Given the description of an element on the screen output the (x, y) to click on. 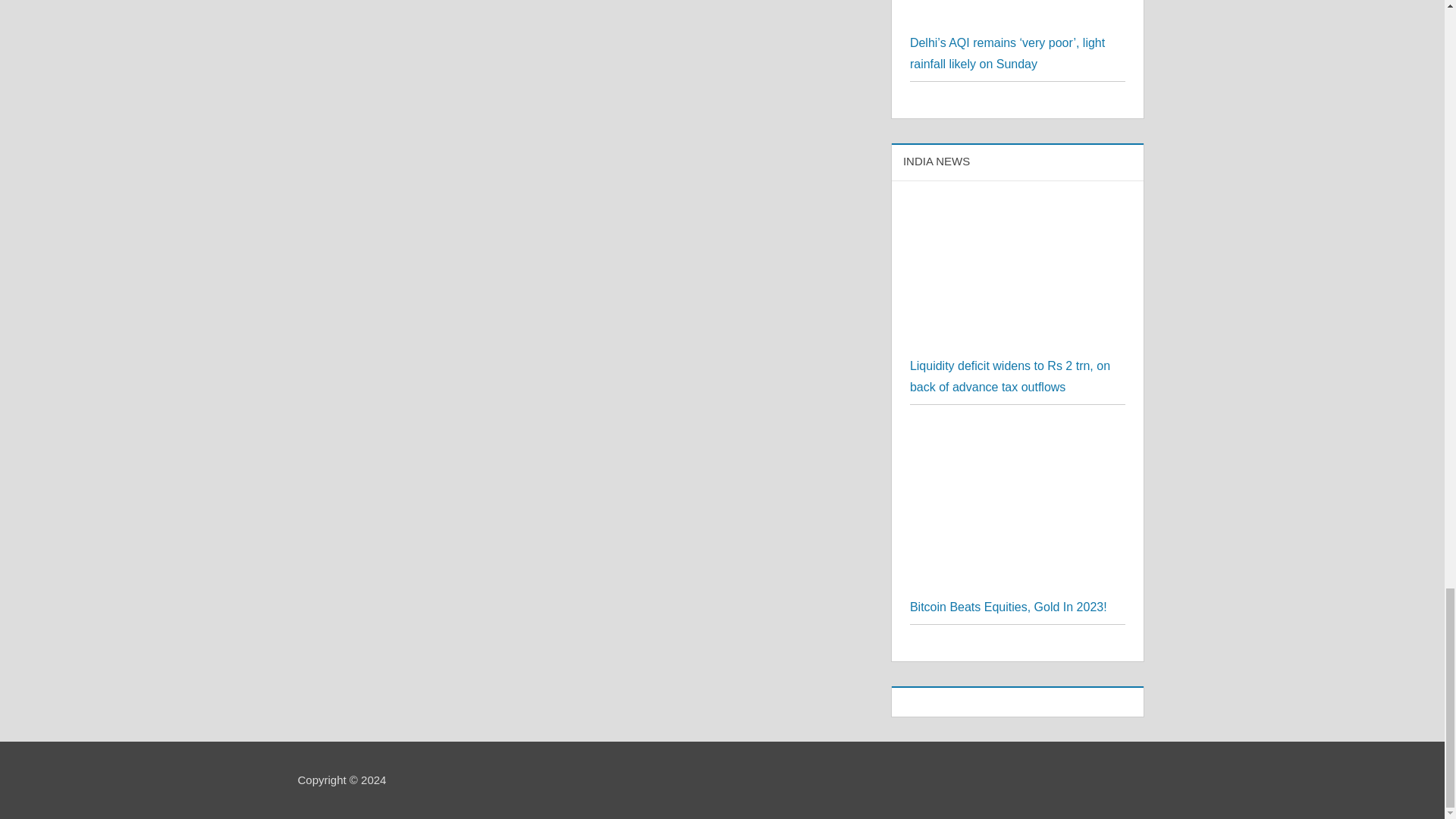
Bitcoin Beats Equities, Gold In 2023! (1017, 432)
Bitcoin Beats Equities, Gold In 2023! (1008, 606)
